Given the description of an element on the screen output the (x, y) to click on. 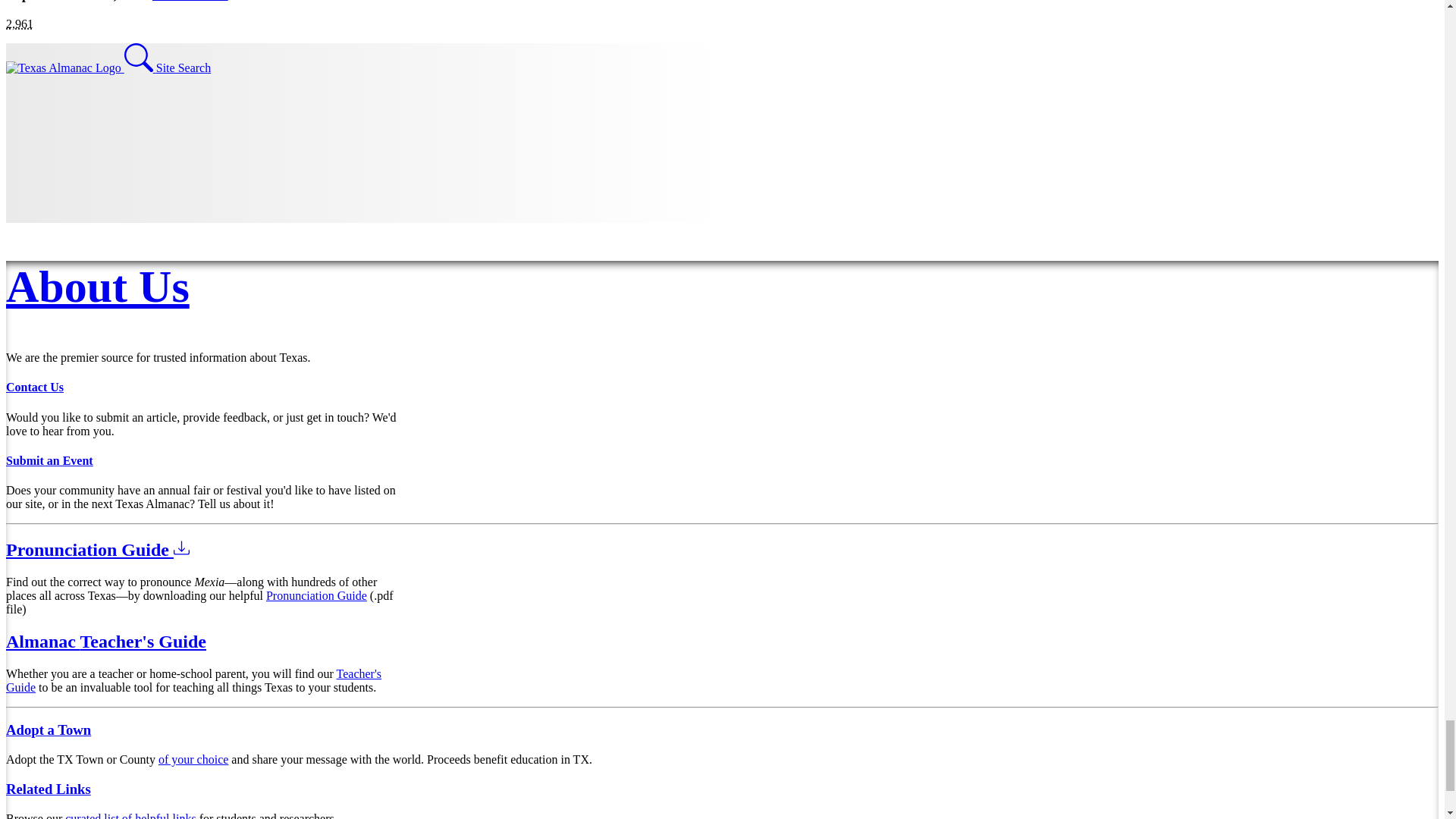
Contact Us (34, 386)
About Us (97, 286)
Submit an Event (49, 460)
2021, United States Census Bureau (19, 23)
Pronunciation Guide (97, 549)
Teacher's Guide (193, 680)
Pronunciation Guide (316, 594)
Almanac Teacher's Guide (105, 641)
Site Search (167, 67)
